Given the description of an element on the screen output the (x, y) to click on. 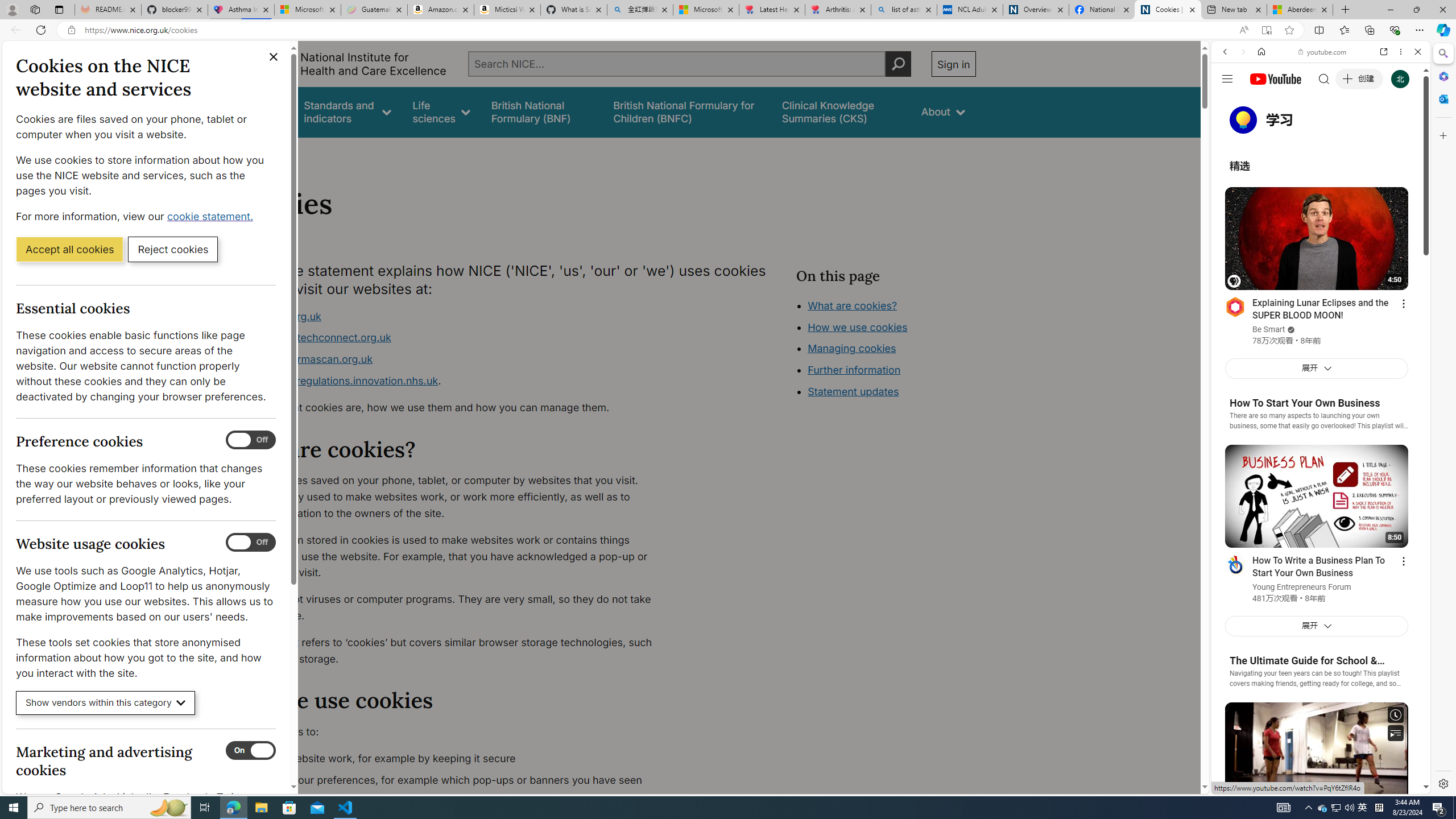
false (841, 111)
www.healthtechconnect.org.uk (314, 337)
www.digitalregulations.innovation.nhs.uk. (452, 380)
Marketing and advertising cookies (250, 750)
